Given the description of an element on the screen output the (x, y) to click on. 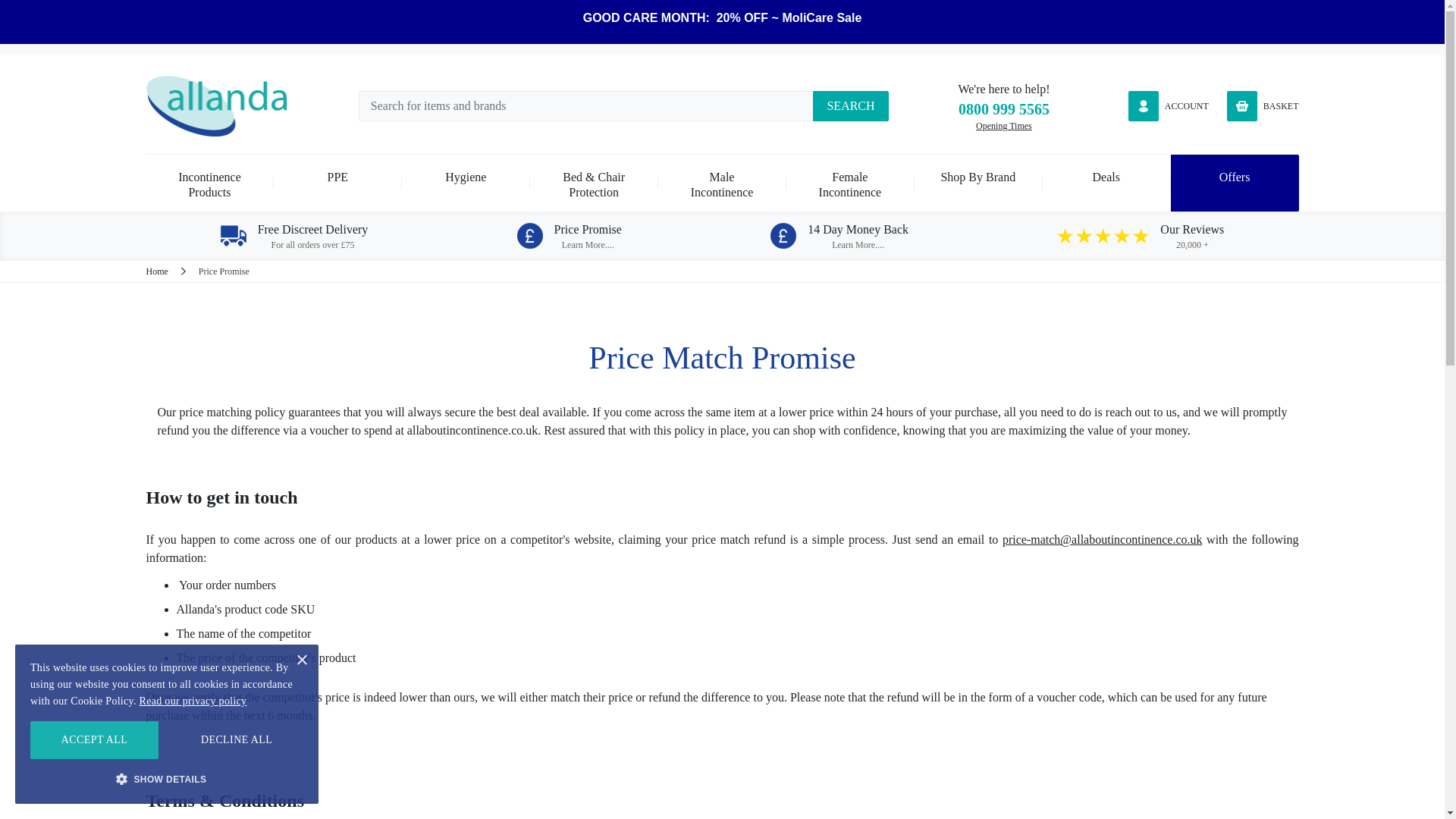
Submit (850, 105)
0800 999 5565 (1003, 108)
Incontinence Sale (722, 17)
